Given the description of an element on the screen output the (x, y) to click on. 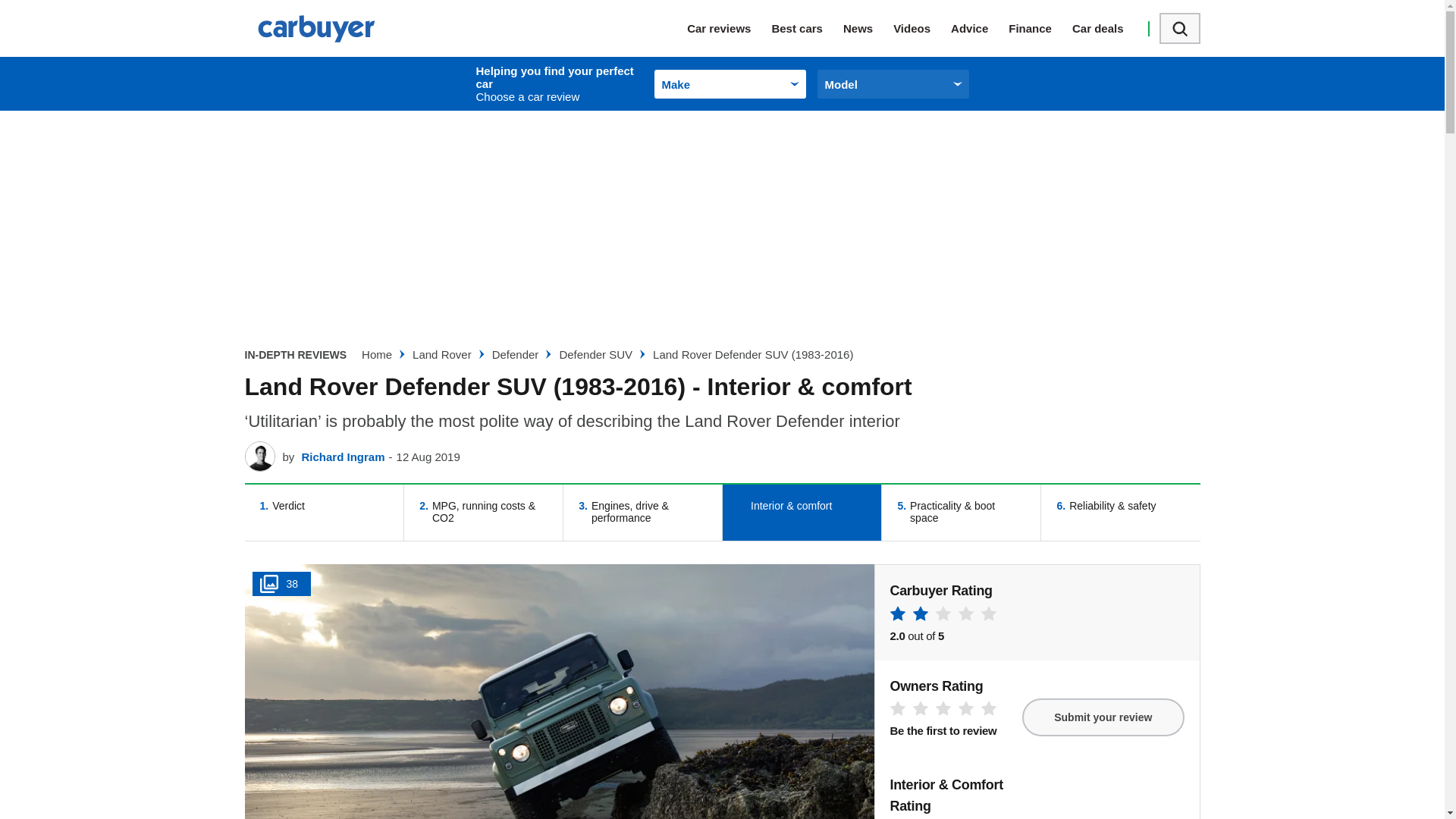
Best cars (807, 27)
Finance (1040, 27)
Car reviews (729, 27)
Advice (979, 27)
0 Stars (942, 711)
News (868, 27)
Videos (921, 27)
Car deals (1107, 27)
Leave your review (1102, 717)
2 Stars (942, 615)
